Given the description of an element on the screen output the (x, y) to click on. 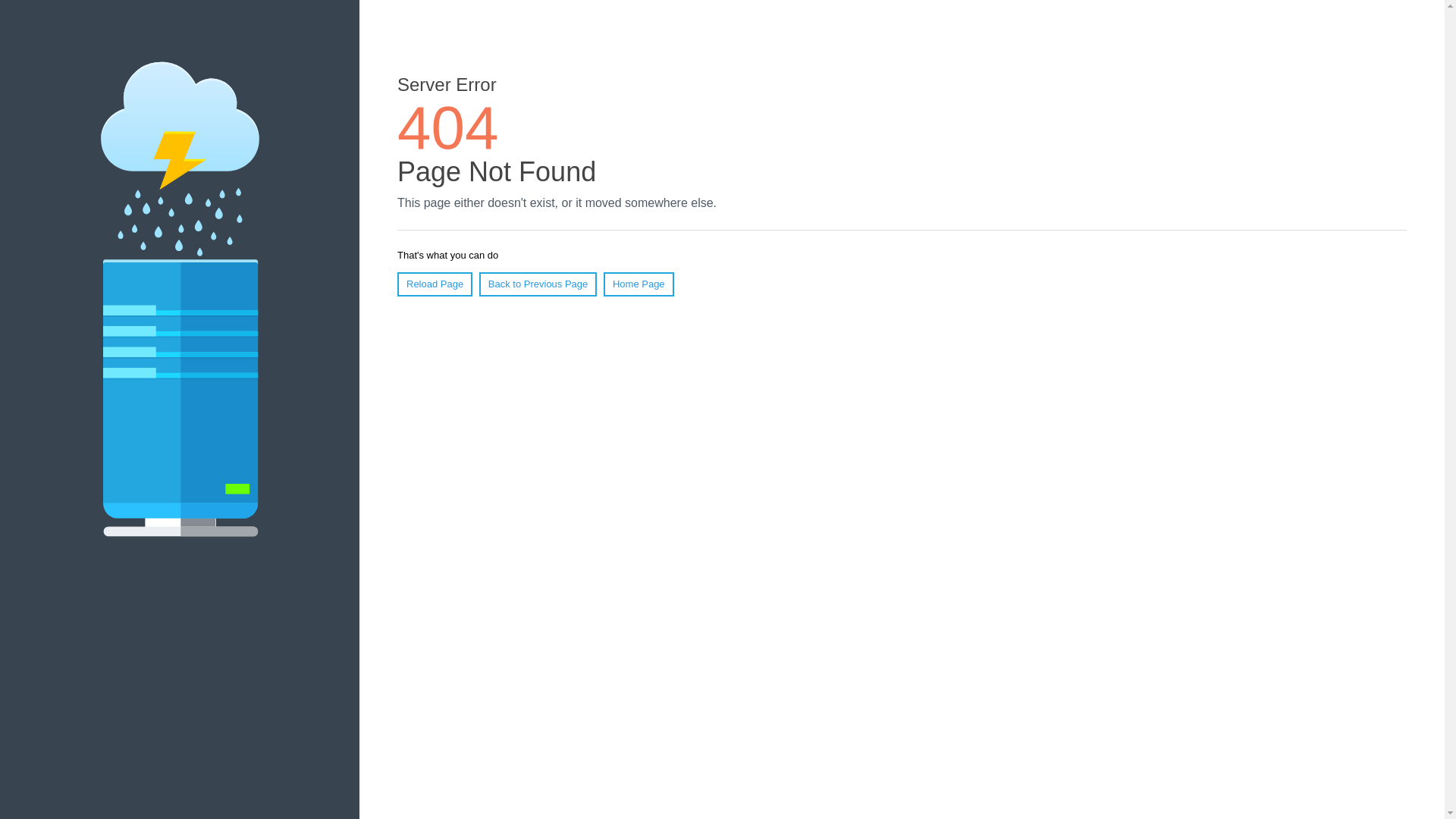
Reload Page Element type: text (434, 284)
Back to Previous Page Element type: text (538, 284)
Home Page Element type: text (638, 284)
